Given the description of an element on the screen output the (x, y) to click on. 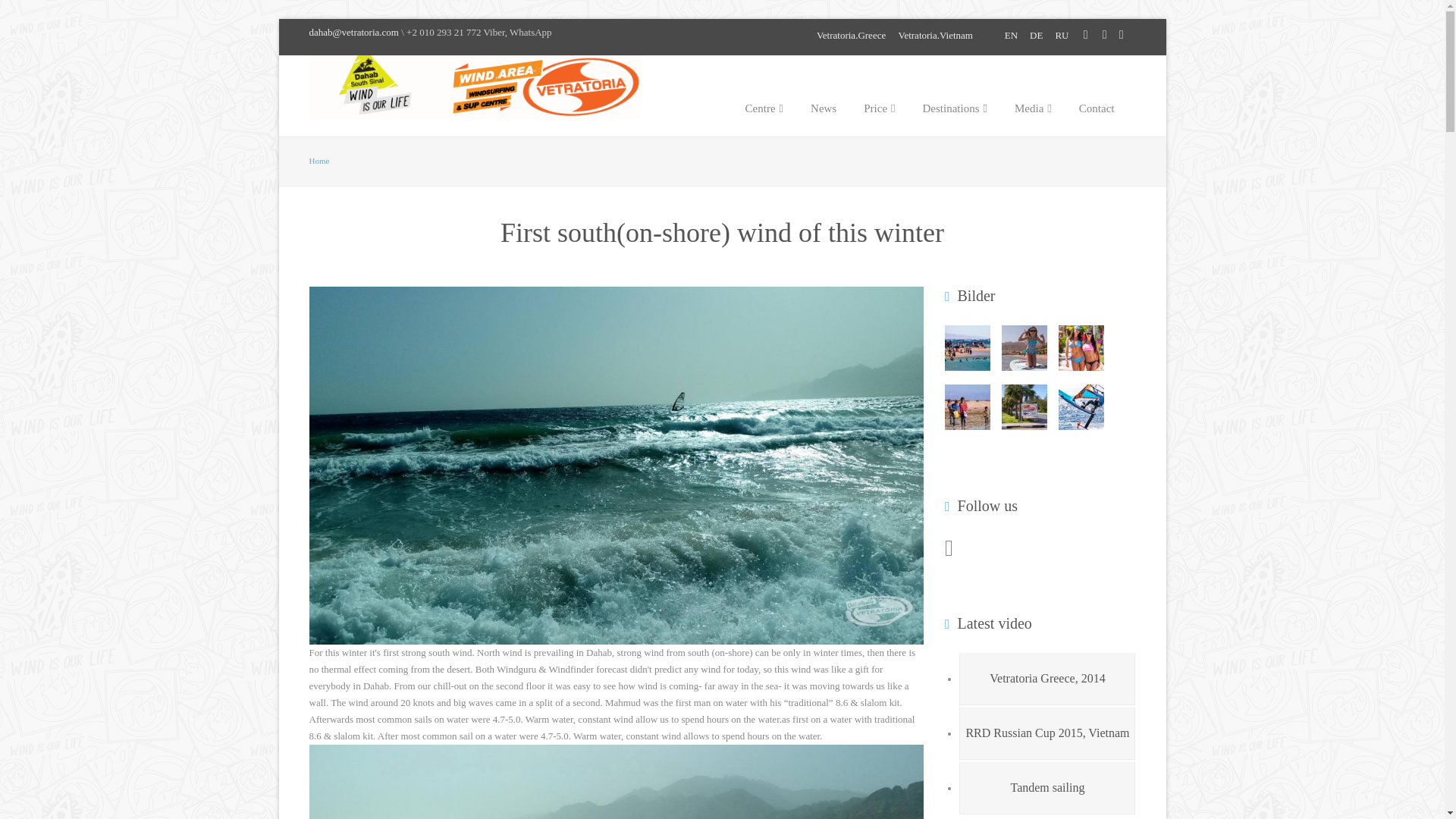
Vetratoria.Greece (850, 34)
Destinations (954, 96)
Vetratoria.Vietnam (935, 34)
Home (319, 160)
